Given the description of an element on the screen output the (x, y) to click on. 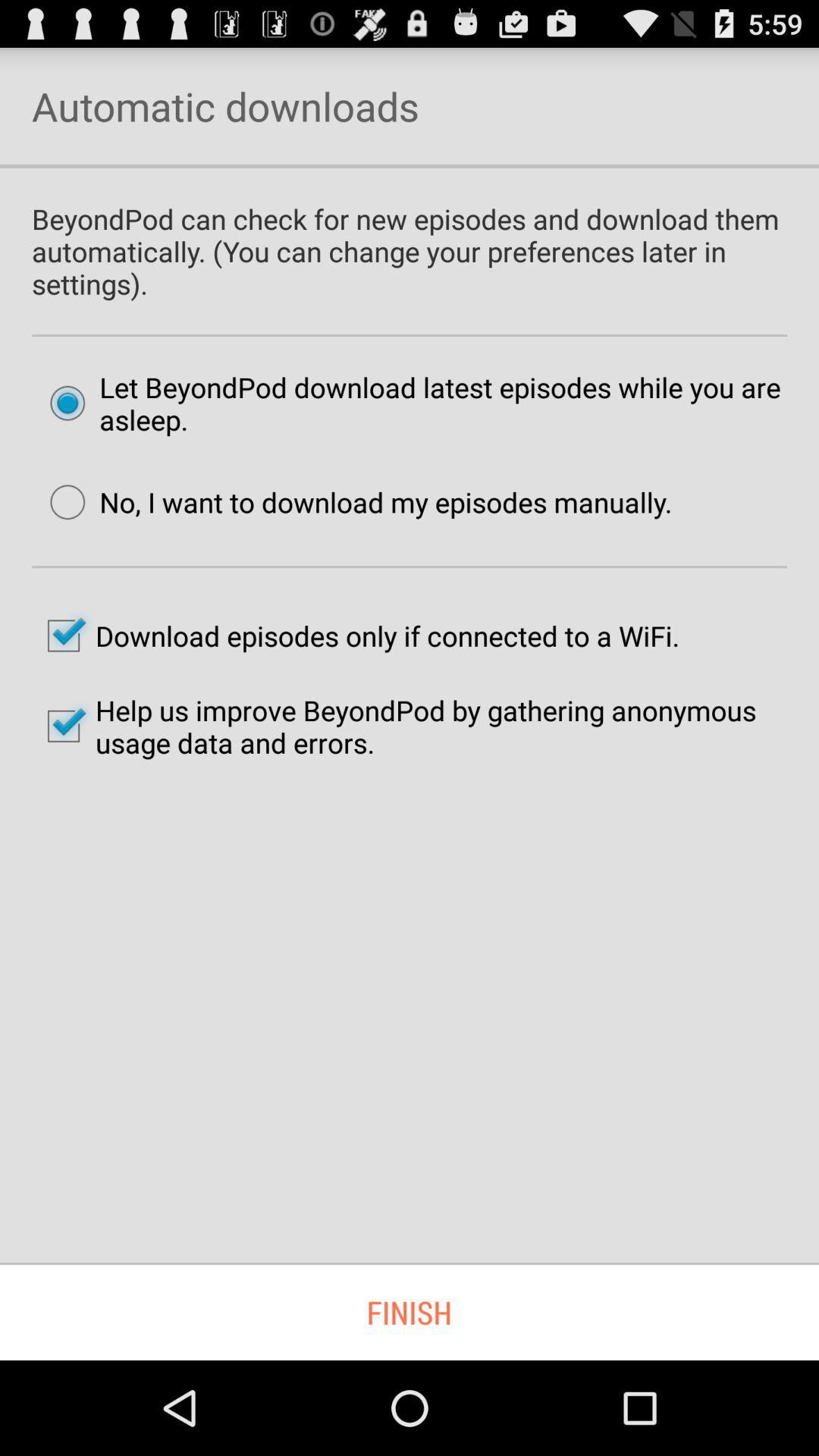
open the checkbox below download episodes only icon (409, 726)
